Given the description of an element on the screen output the (x, y) to click on. 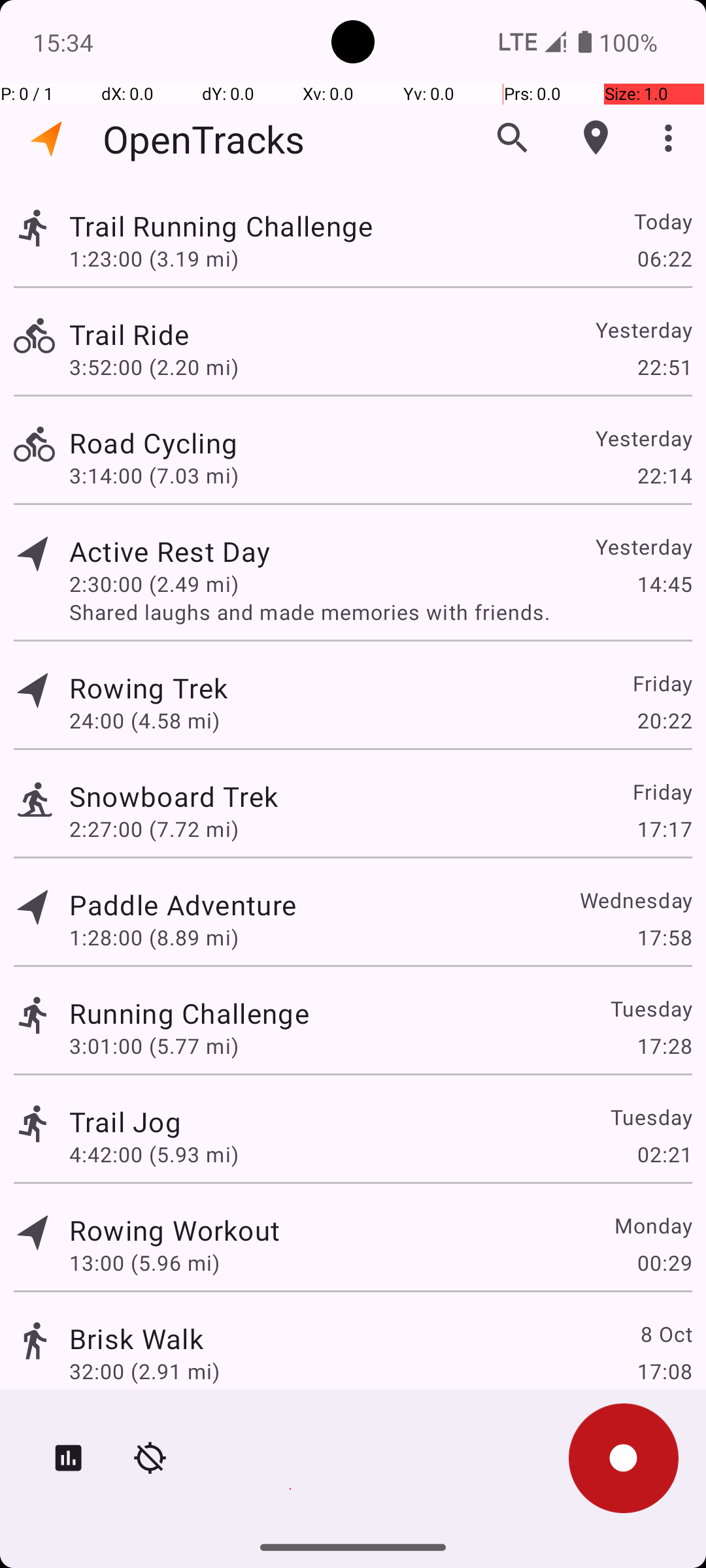
Trail Running Challenge Element type: android.widget.TextView (220, 225)
1:23:00 (3.19 mi) Element type: android.widget.TextView (153, 258)
06:22 Element type: android.widget.TextView (664, 258)
Trail Ride Element type: android.widget.TextView (128, 333)
3:52:00 (2.20 mi) Element type: android.widget.TextView (153, 366)
22:51 Element type: android.widget.TextView (664, 366)
Road Cycling Element type: android.widget.TextView (152, 442)
3:14:00 (7.03 mi) Element type: android.widget.TextView (153, 475)
22:14 Element type: android.widget.TextView (664, 475)
Active Rest Day Element type: android.widget.TextView (169, 550)
2:30:00 (2.49 mi) Element type: android.widget.TextView (153, 583)
14:45 Element type: android.widget.TextView (664, 583)
Shared laughs and made memories with friends. Element type: android.widget.TextView (380, 611)
Rowing Trek Element type: android.widget.TextView (148, 687)
24:00 (4.58 mi) Element type: android.widget.TextView (144, 720)
20:22 Element type: android.widget.TextView (664, 720)
Snowboard Trek Element type: android.widget.TextView (173, 795)
2:27:00 (7.72 mi) Element type: android.widget.TextView (153, 828)
17:17 Element type: android.widget.TextView (664, 828)
Paddle Adventure Element type: android.widget.TextView (182, 904)
1:28:00 (8.89 mi) Element type: android.widget.TextView (153, 937)
17:58 Element type: android.widget.TextView (664, 937)
Running Challenge Element type: android.widget.TextView (188, 1012)
3:01:00 (5.77 mi) Element type: android.widget.TextView (153, 1045)
17:28 Element type: android.widget.TextView (664, 1045)
Trail Jog Element type: android.widget.TextView (124, 1121)
4:42:00 (5.93 mi) Element type: android.widget.TextView (153, 1154)
02:21 Element type: android.widget.TextView (664, 1154)
Rowing Workout Element type: android.widget.TextView (174, 1229)
13:00 (5.96 mi) Element type: android.widget.TextView (144, 1262)
00:29 Element type: android.widget.TextView (664, 1262)
Brisk Walk Element type: android.widget.TextView (135, 1337)
32:00 (2.91 mi) Element type: android.widget.TextView (144, 1370)
17:08 Element type: android.widget.TextView (664, 1370)
